Given the description of an element on the screen output the (x, y) to click on. 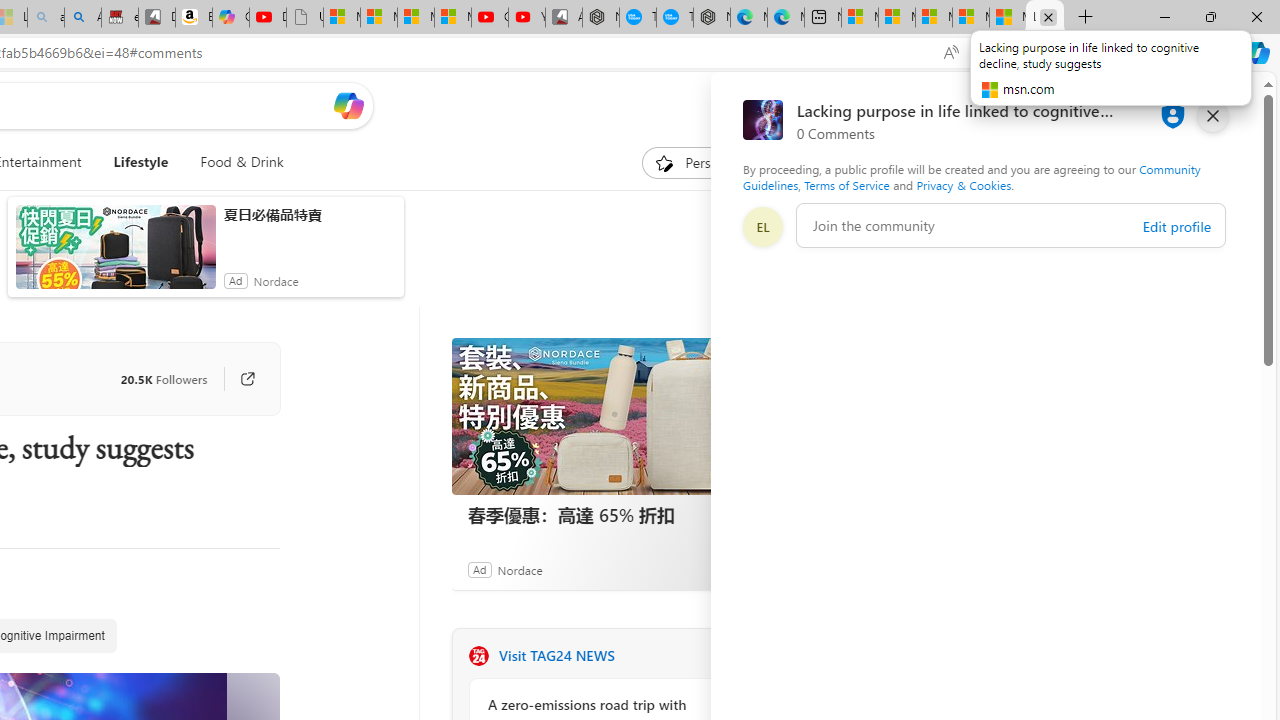
Lifestyle (140, 162)
Lifestyle (141, 162)
Profile Picture (762, 226)
Privacy & Cookies (964, 184)
